Given the description of an element on the screen output the (x, y) to click on. 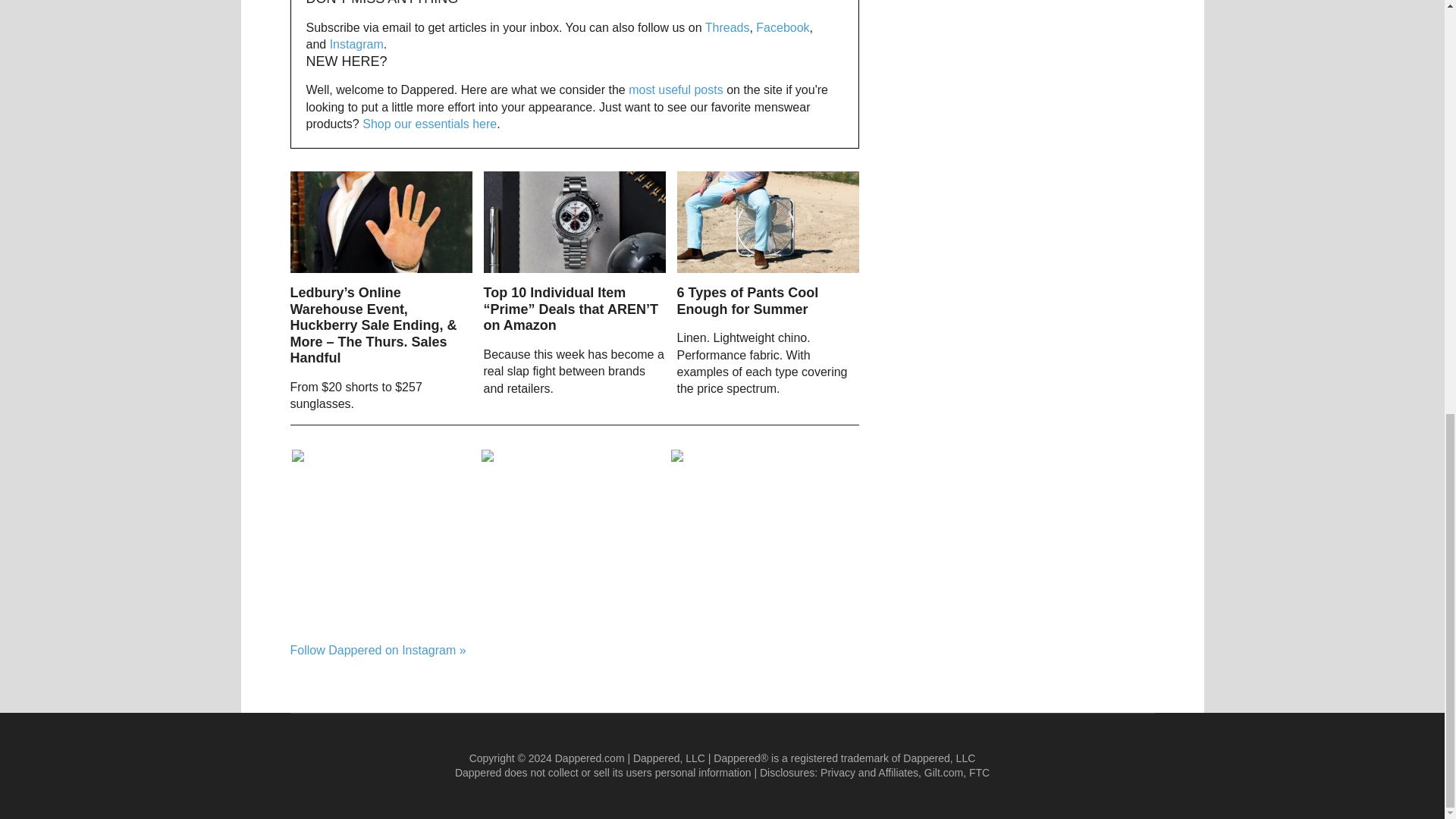
most useful posts (675, 89)
Instagram (357, 43)
Threads (726, 27)
Shop our essentials here (429, 123)
Gilt Disclosure (943, 772)
Facebook (782, 27)
6 Types of Pants Cool Enough for Summer (747, 300)
Privacy and Affiliate Disclosure (869, 772)
Dappered FTC Disclosures (979, 772)
